Given the description of an element on the screen output the (x, y) to click on. 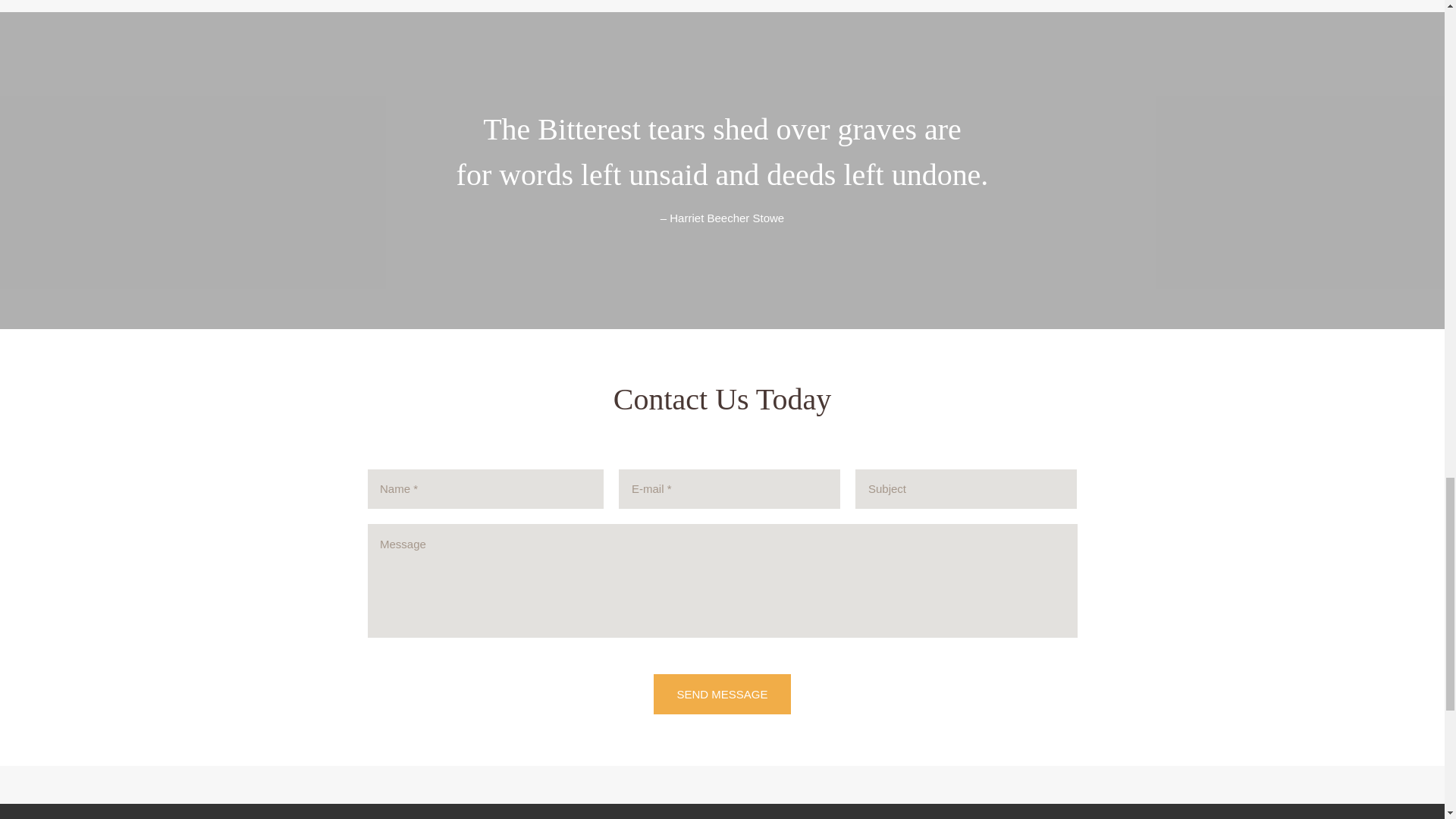
Send message (721, 694)
Send message (721, 694)
